Given the description of an element on the screen output the (x, y) to click on. 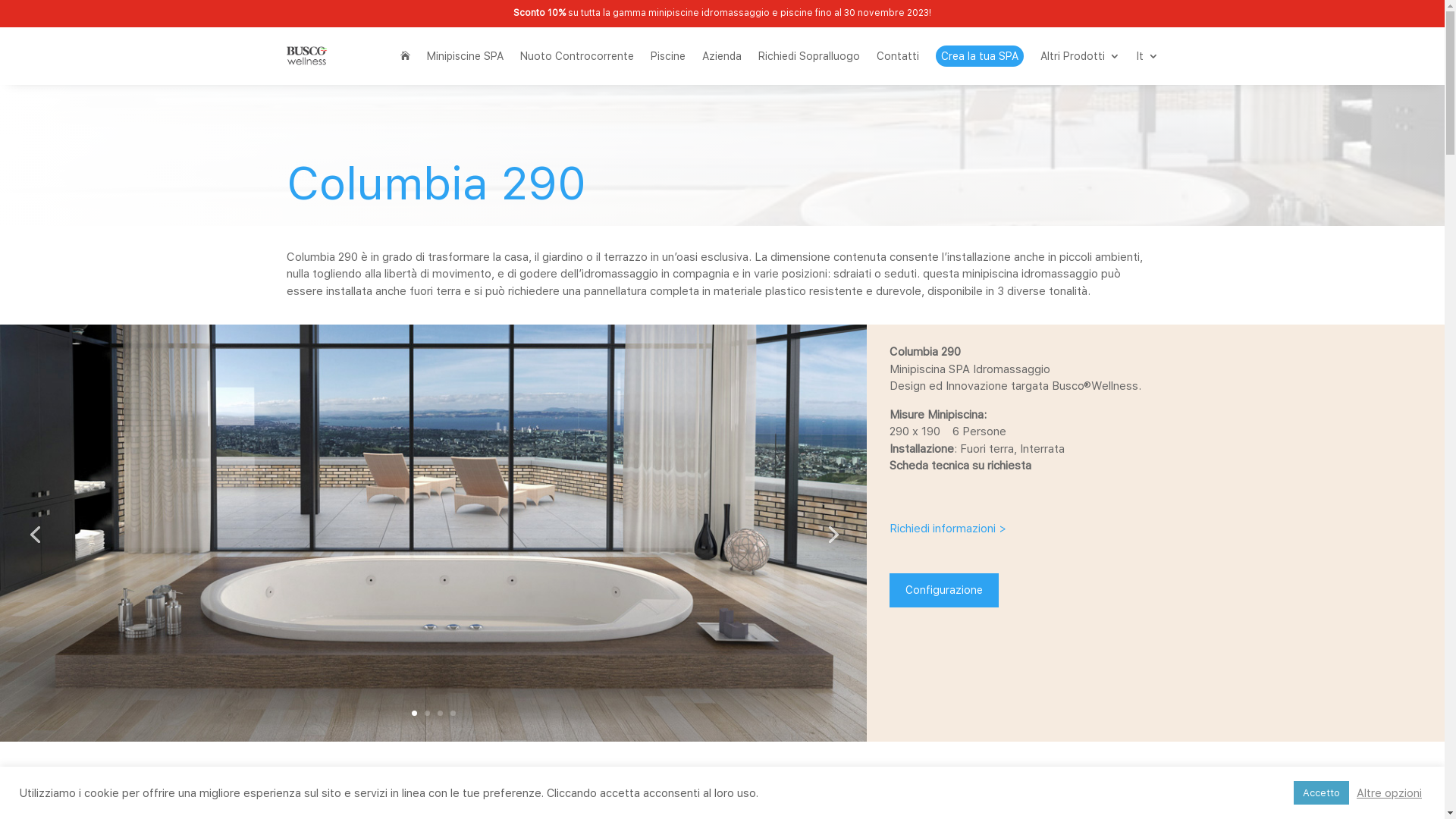
Azienda Element type: text (721, 55)
Richiedi Sopralluogo Element type: text (808, 55)
Richiedi informazioni > Element type: text (947, 528)
Accetto Element type: text (1321, 792)
1 Element type: text (413, 712)
Minipiscine SPA Element type: text (464, 55)
Configurazione Element type: text (943, 590)
4 Element type: text (452, 712)
Contatti Element type: text (897, 55)
Crea la tua SPA Element type: text (979, 55)
Piscine Element type: text (667, 55)
2 Element type: text (426, 712)
Nuoto Controcorrente Element type: text (576, 55)
Altri Prodotti Element type: text (1080, 55)
Altre opzioni Element type: text (1388, 792)
It Element type: text (1146, 55)
3 Element type: text (439, 712)
